Given the description of an element on the screen output the (x, y) to click on. 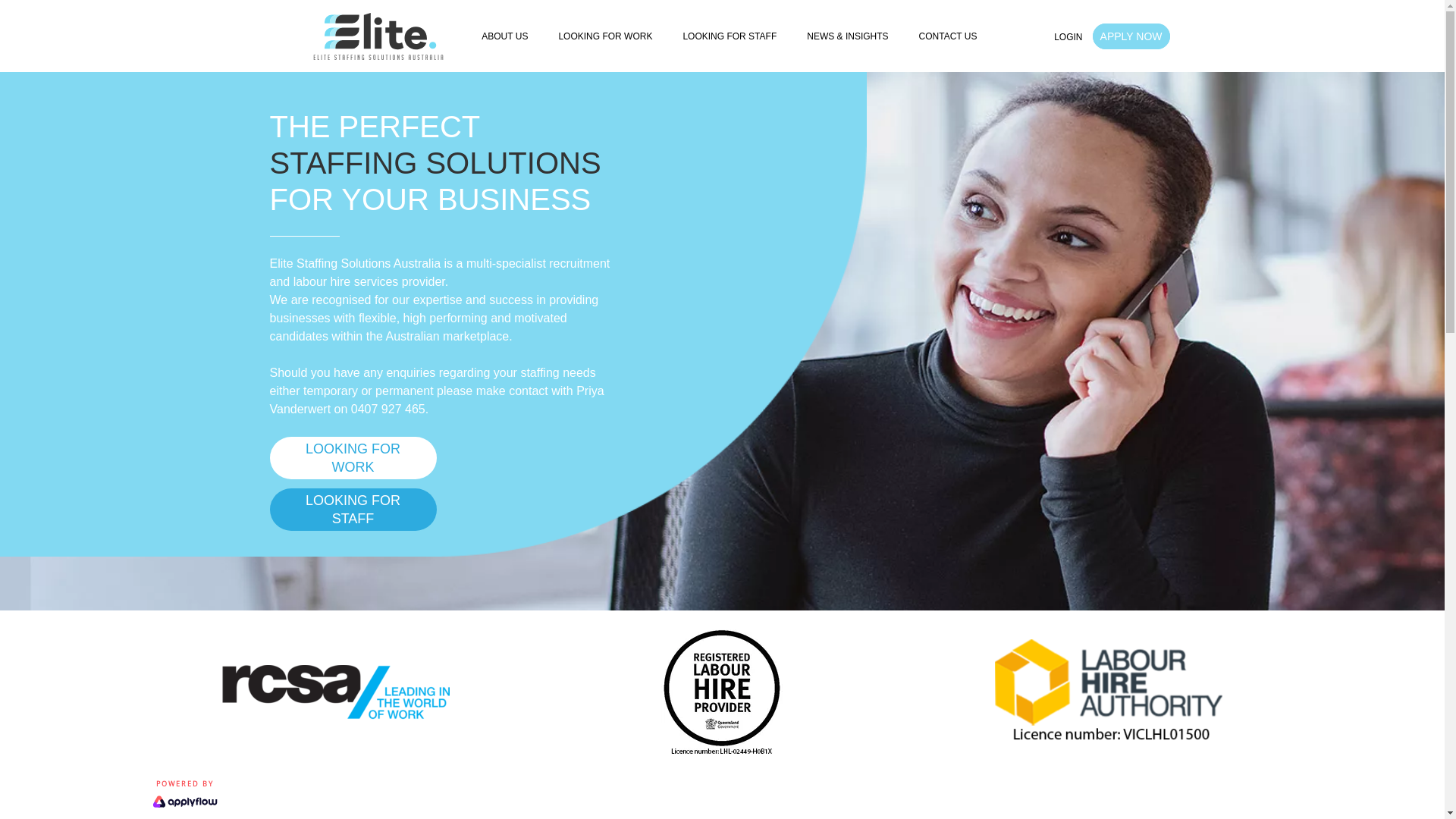
LOOKING FOR WORK Element type: text (352, 457)
Queensland logo Element type: hover (721, 692)
LOOKING FOR STAFF Element type: text (729, 35)
CONTACT US Element type: text (948, 35)
LHA-logo V2 Element type: hover (1108, 692)
NEWS & INSIGHTS Element type: text (847, 35)
ABOUT US Element type: text (504, 35)
APPLY NOW Element type: text (1131, 35)
LOGIN Element type: text (1068, 36)
POWERED BY Element type: text (183, 795)
LOOKING FOR STAFF Element type: text (352, 509)
RCSA Logo Version1 copy Element type: hover (335, 691)
LOOKING FOR WORK Element type: text (605, 35)
